Given the description of an element on the screen output the (x, y) to click on. 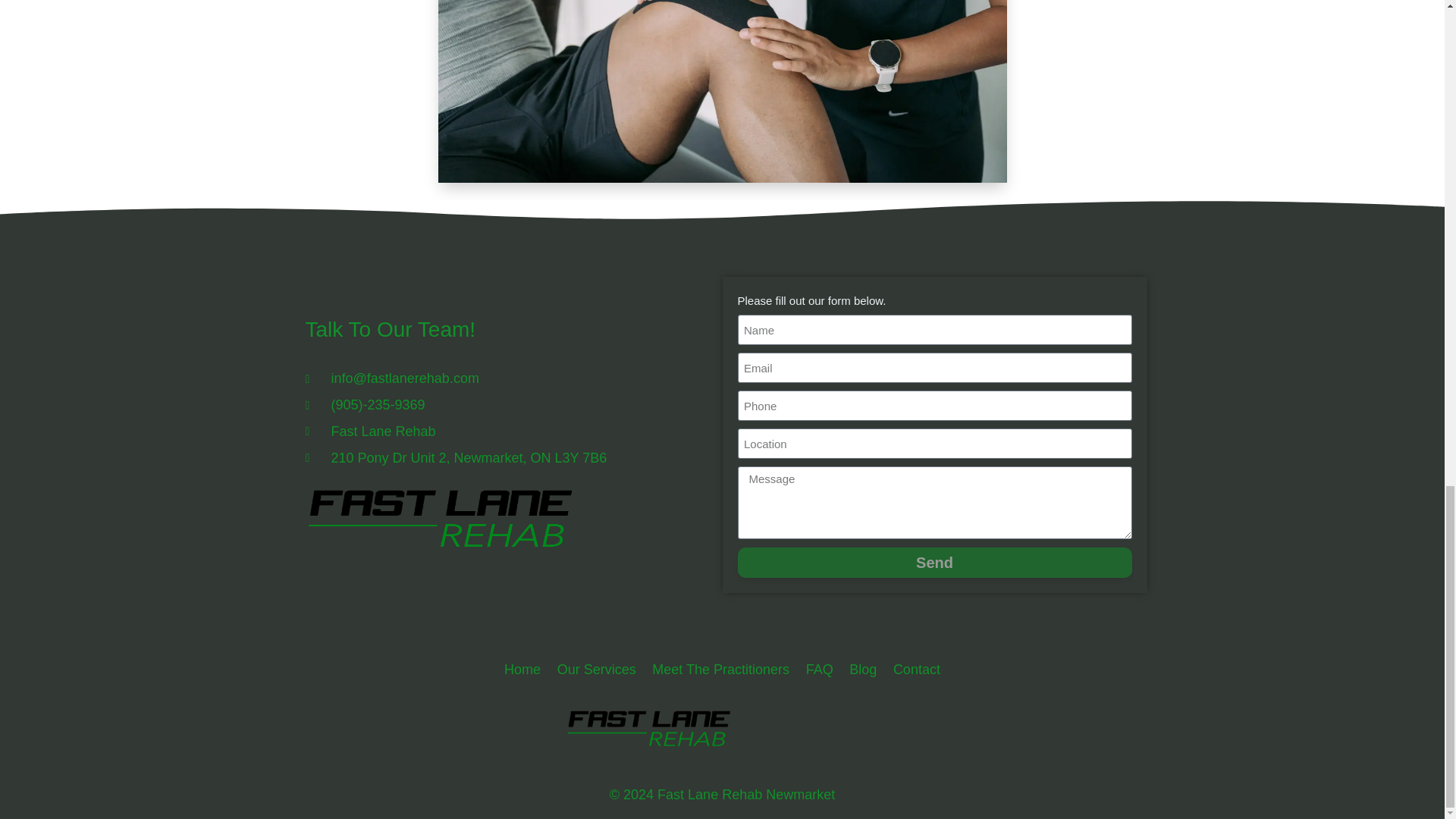
Rehabilitation Services (596, 670)
Blog (863, 670)
Blog (863, 670)
Fast Lane Rehab (499, 431)
Home (522, 670)
Meet The Practitioners (721, 670)
Our Services (596, 670)
Send (933, 562)
Contact Fast Lane Rehab (917, 670)
Frequently Asked Questions (819, 670)
